Given the description of an element on the screen output the (x, y) to click on. 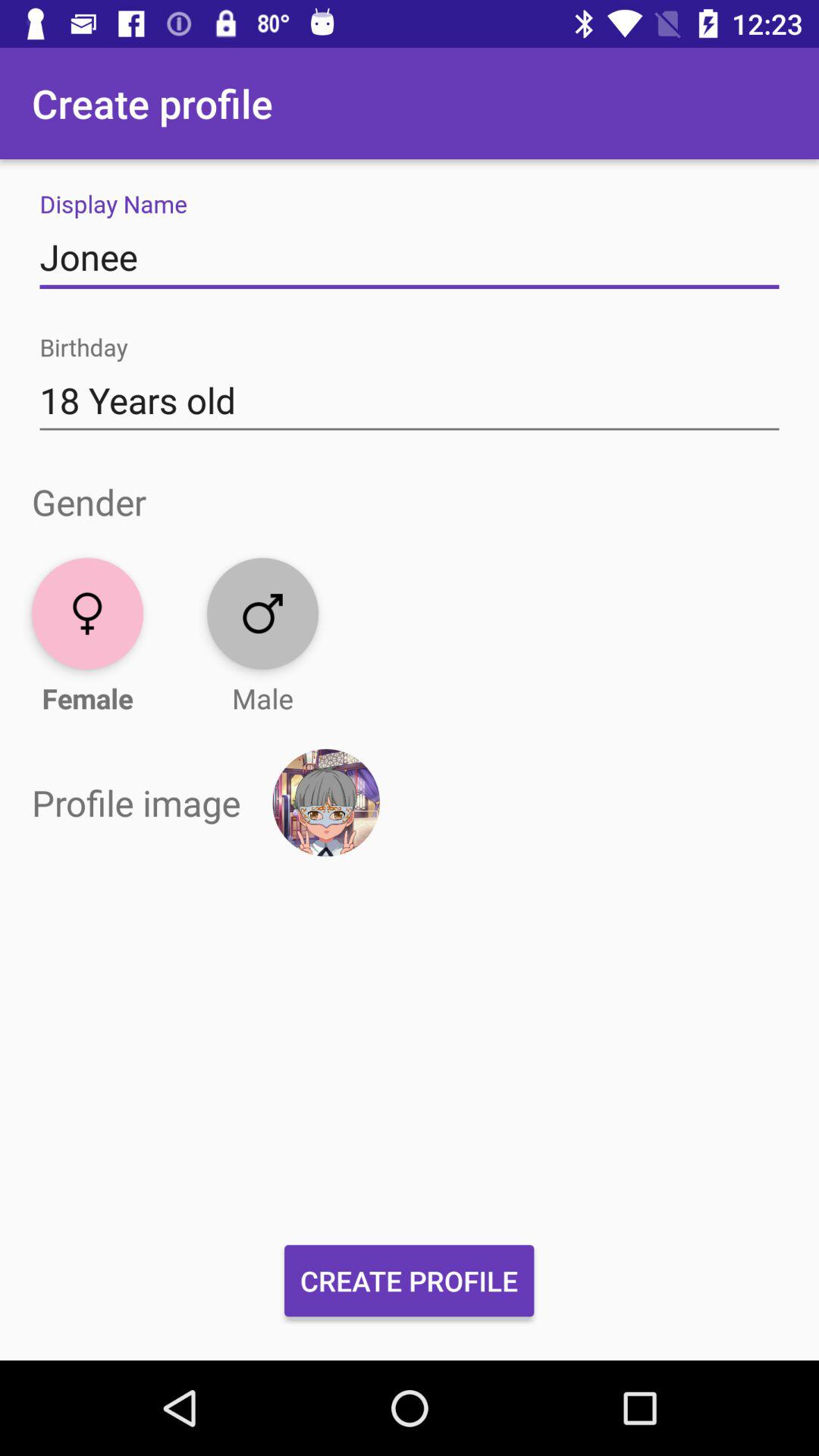
click to gender option (262, 613)
